Given the description of an element on the screen output the (x, y) to click on. 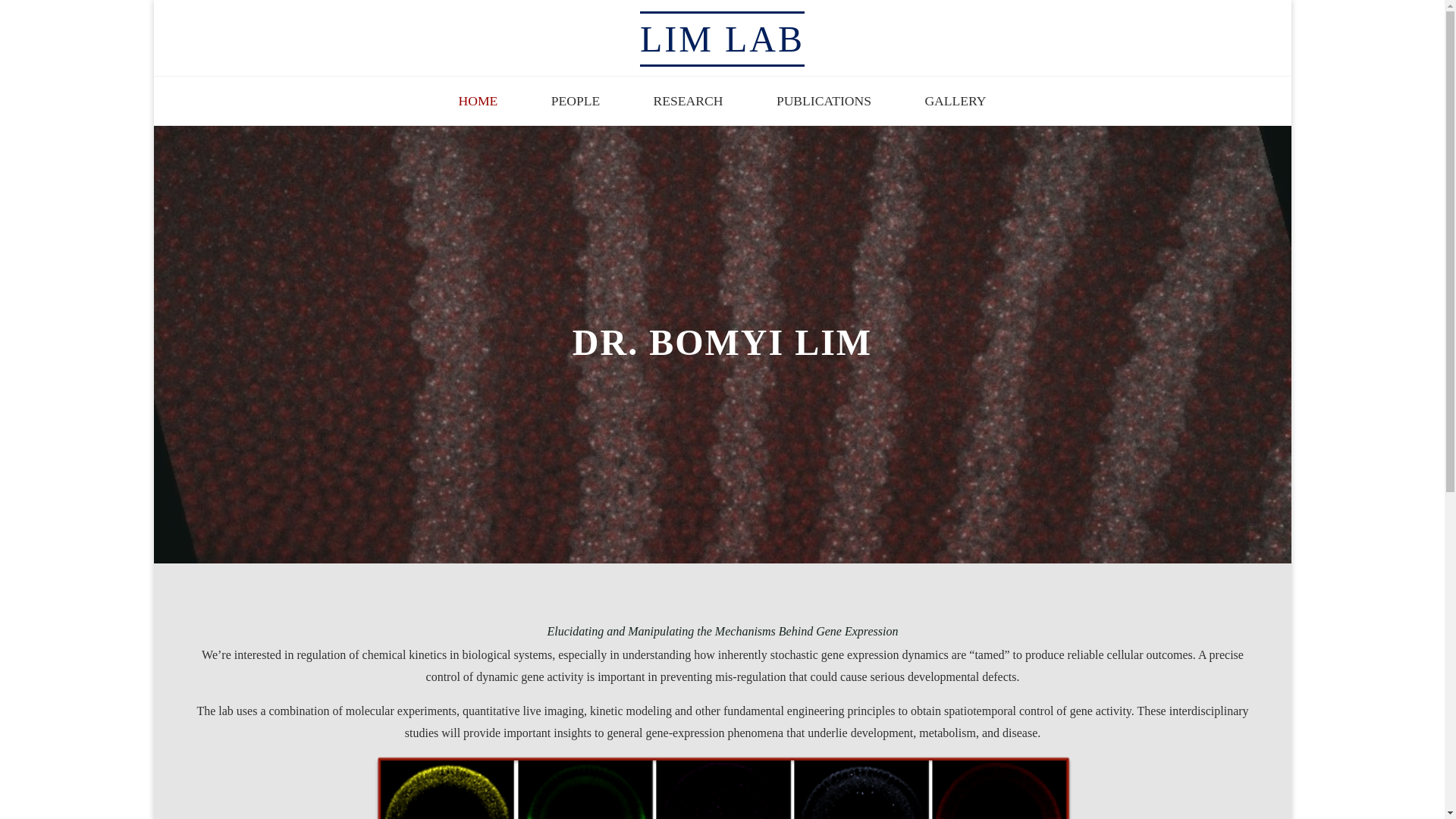
GALLERY (955, 101)
LIM LAB (722, 38)
PUBLICATIONS (823, 101)
RESEARCH (687, 101)
HOME (477, 101)
PEOPLE (575, 101)
